Given the description of an element on the screen output the (x, y) to click on. 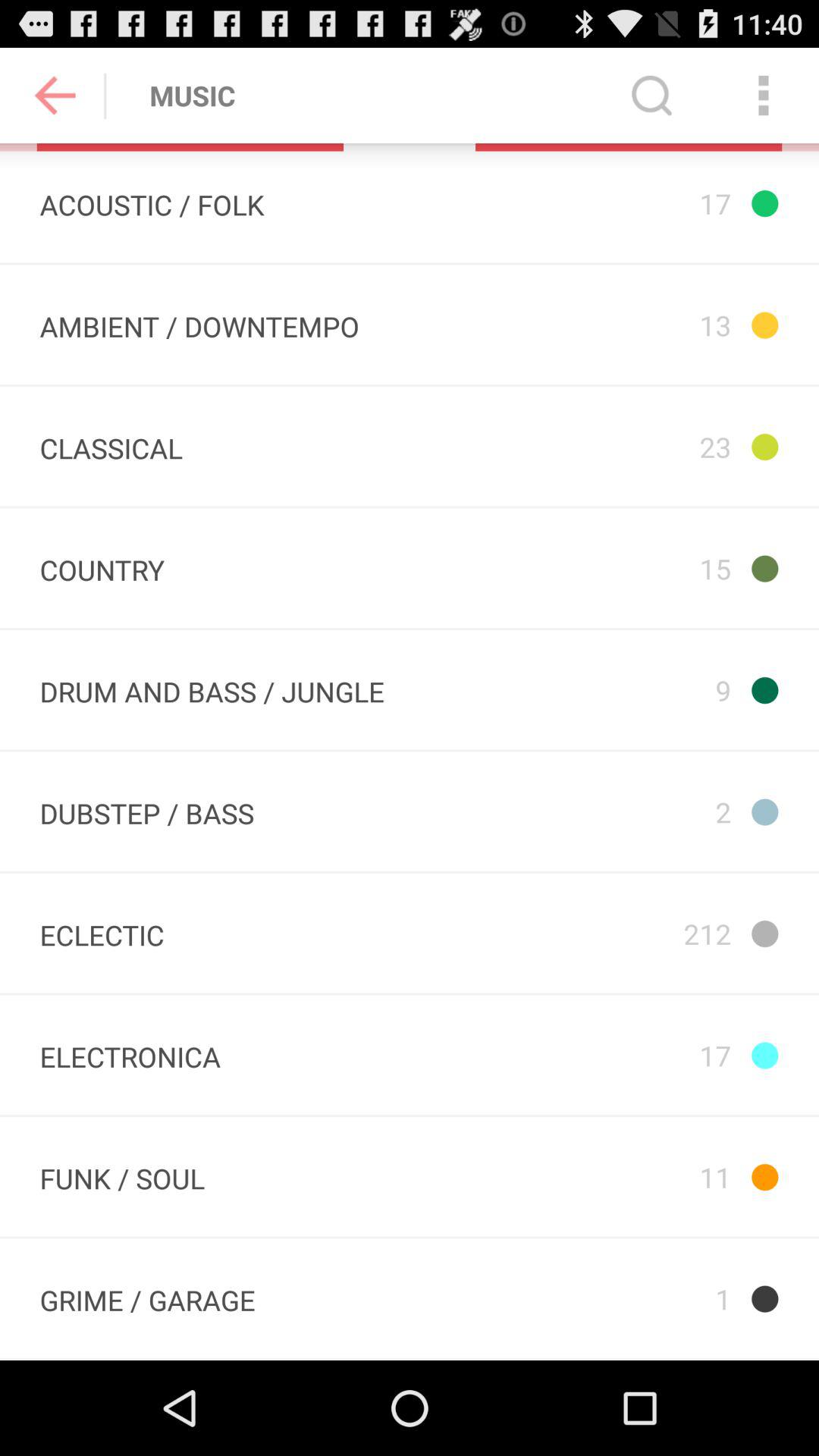
press item below the 13 app (616, 446)
